Given the description of an element on the screen output the (x, y) to click on. 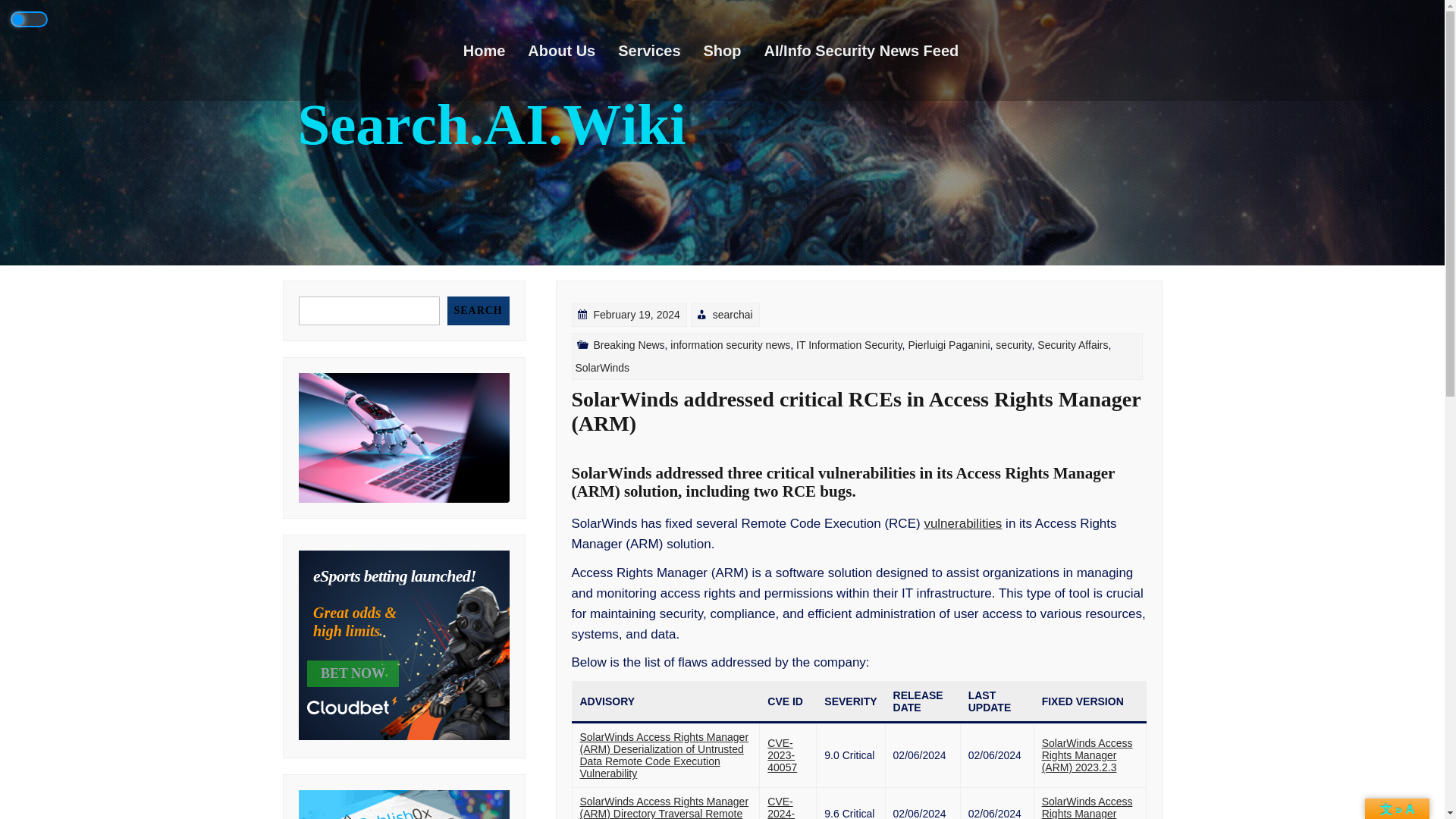
Pierluigi Paganini (941, 425)
Security Affairs (1053, 407)
Shop (733, 49)
information security news (763, 439)
Breaking News (678, 455)
vulnerabilities (956, 553)
searchai (765, 440)
IT Information Security (858, 431)
SolarWinds (627, 417)
security (996, 412)
Search.AI.Wiki (491, 124)
CVE-2024-23476 (784, 809)
February 19, 2024 (699, 460)
About Us (572, 49)
Services (660, 49)
